Given the description of an element on the screen output the (x, y) to click on. 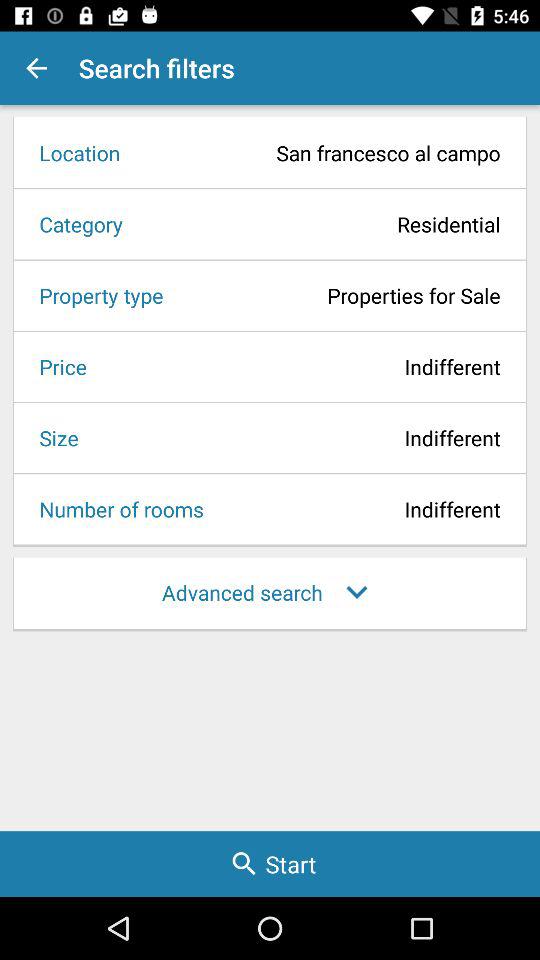
select the item next to the category (318, 224)
